Given the description of an element on the screen output the (x, y) to click on. 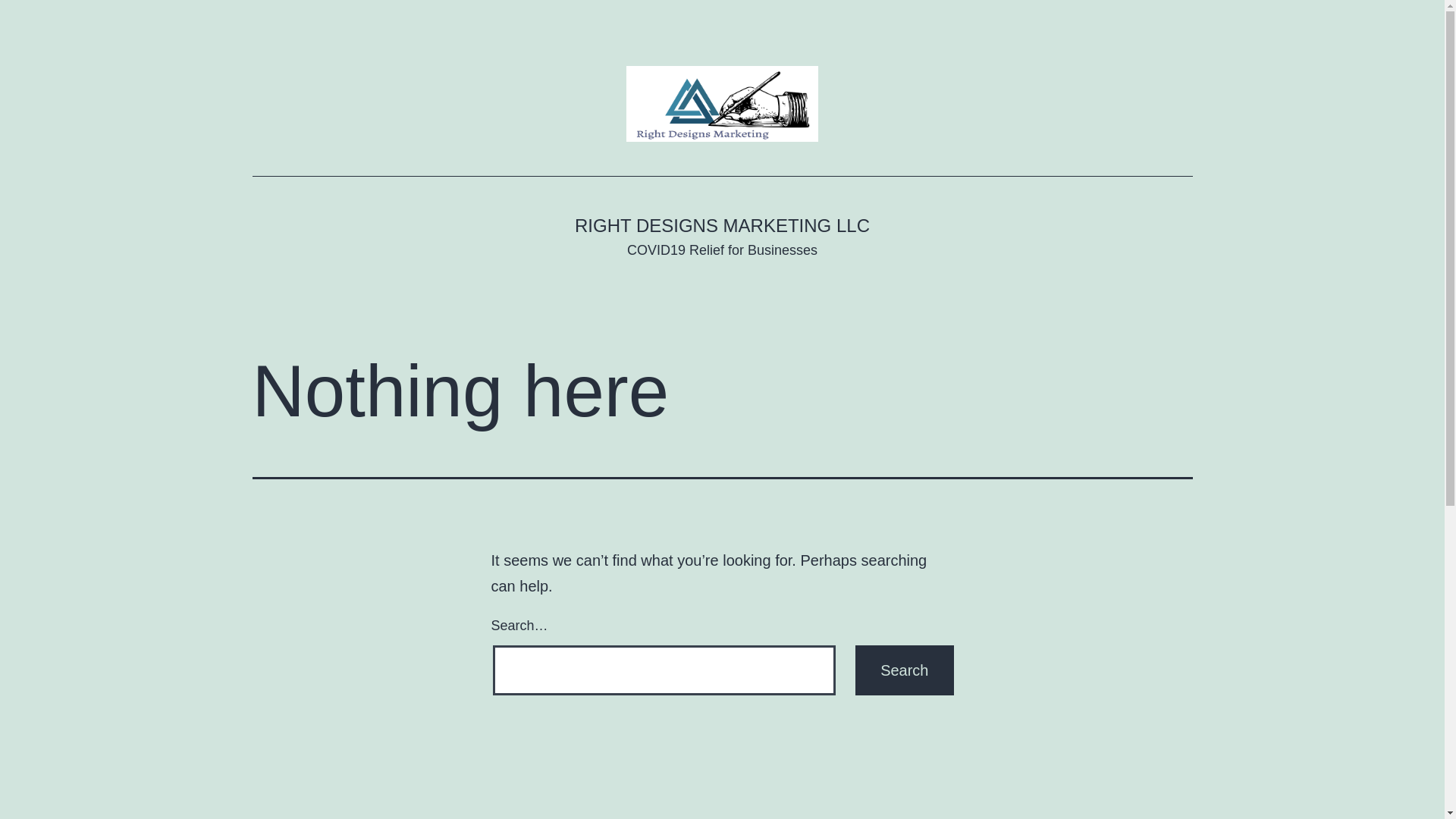
Search Element type: text (904, 670)
RIGHT DESIGNS MARKETING LLC Element type: text (721, 225)
